Given the description of an element on the screen output the (x, y) to click on. 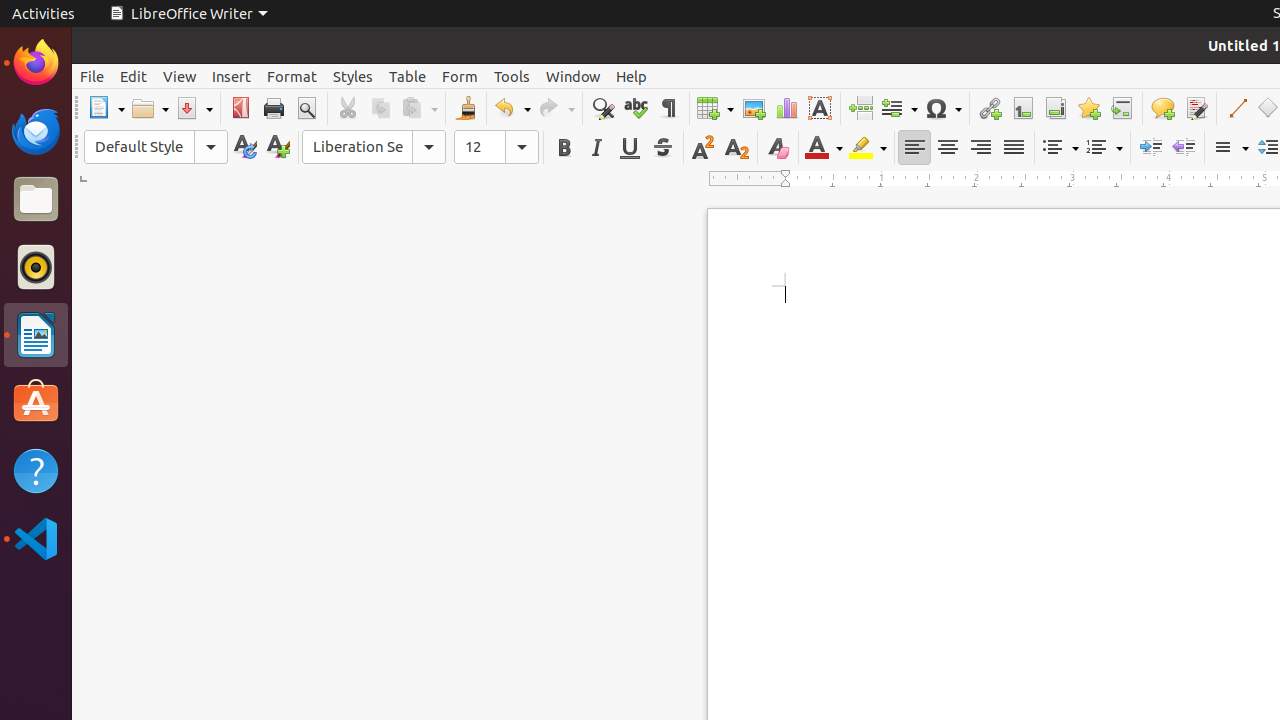
Highlight Color Element type: push-button (868, 147)
Cut Element type: push-button (347, 108)
Formatting Marks Element type: toggle-button (668, 108)
Line Spacing Element type: push-button (1230, 147)
Rhythmbox Element type: push-button (36, 267)
